Given the description of an element on the screen output the (x, y) to click on. 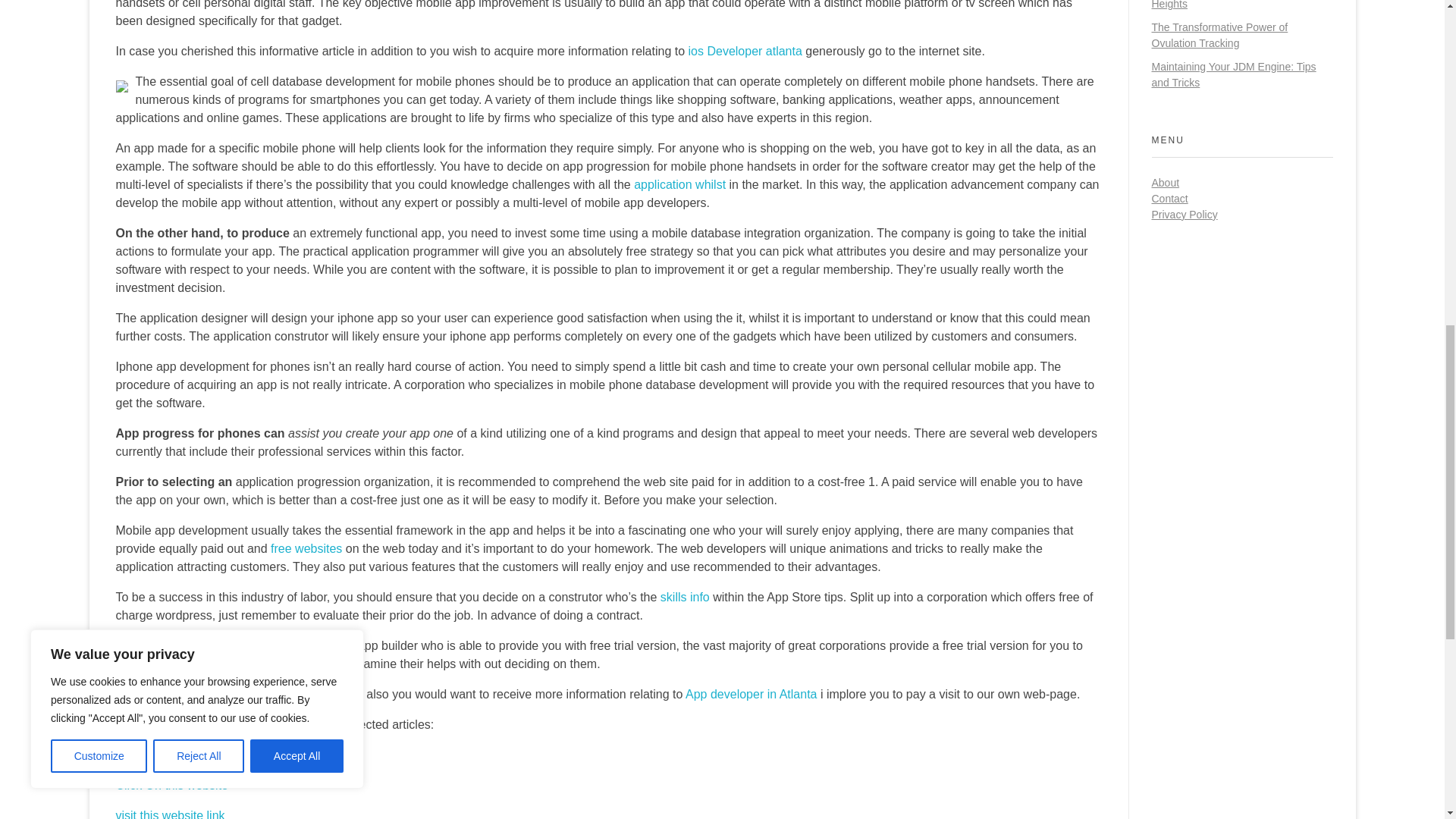
ios Developer atlanta (745, 51)
Click On this website (171, 784)
Click here now (155, 754)
visit this website link (169, 814)
application whilst (679, 184)
free websites (306, 548)
skills info (685, 596)
App developer in Atlanta (750, 694)
